Given the description of an element on the screen output the (x, y) to click on. 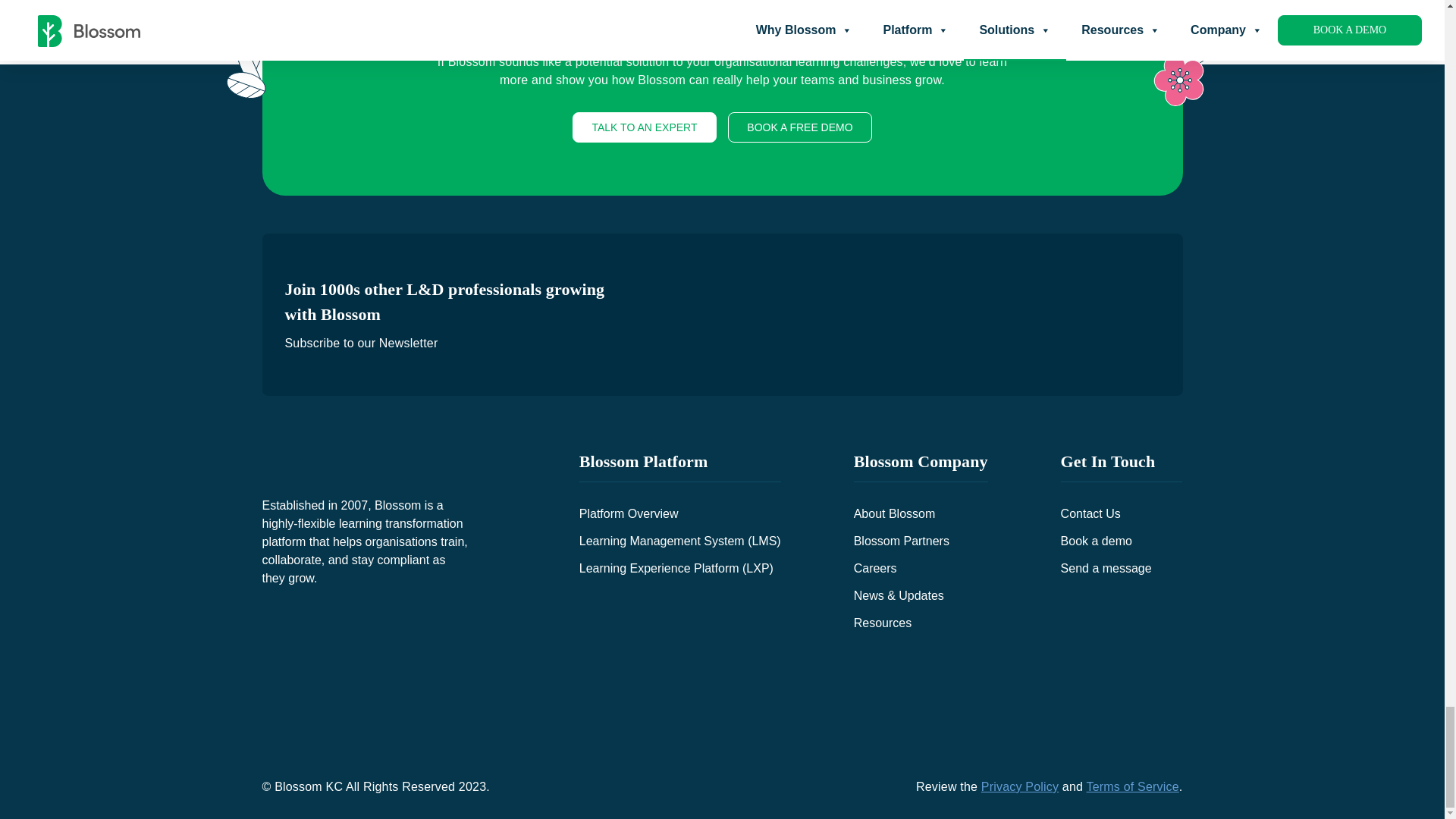
Form 0 (894, 314)
